Given the description of an element on the screen output the (x, y) to click on. 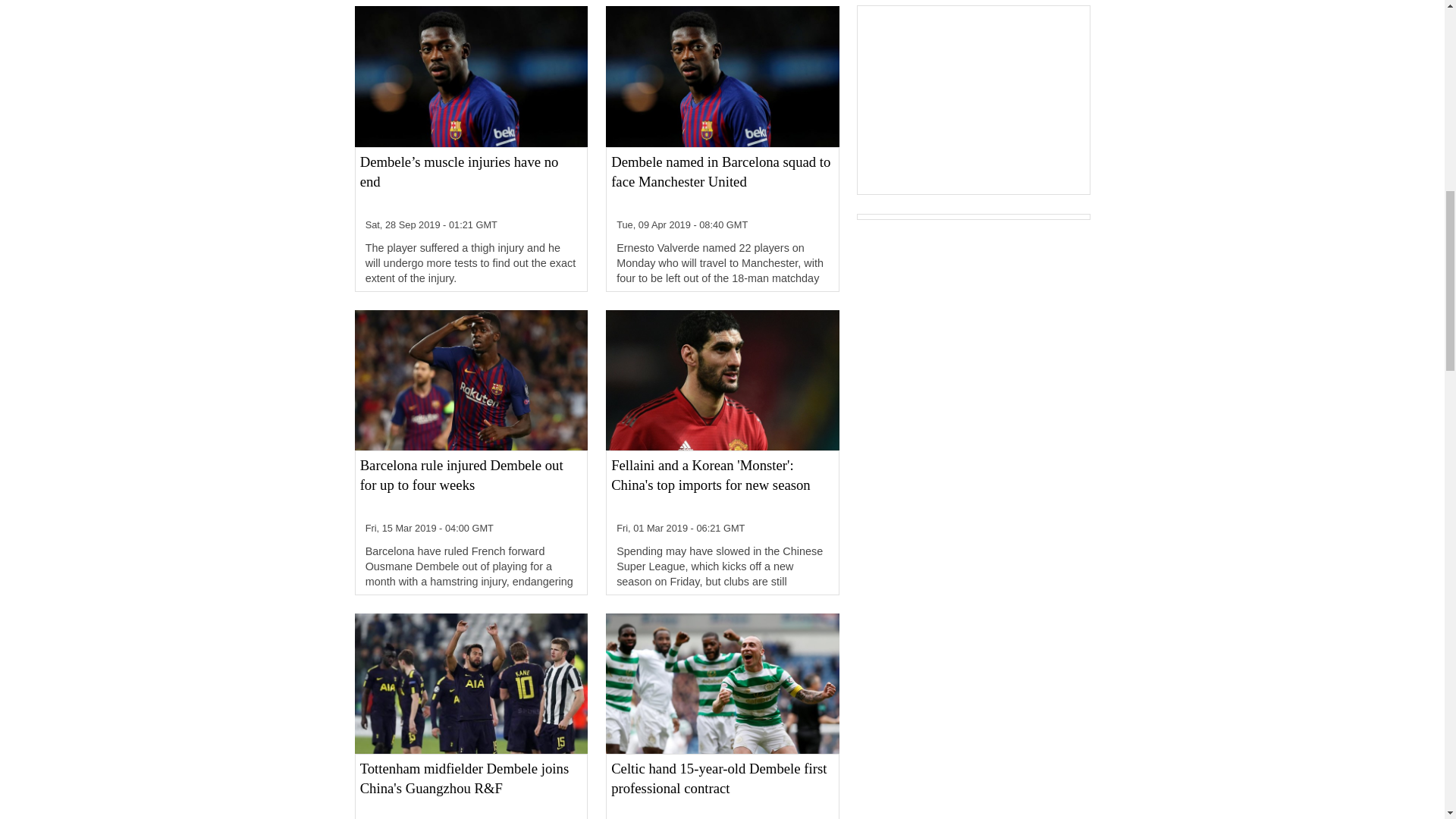
Dembele named in Barcelona squad to face Manchester United (721, 182)
Barcelona rule injured Dembele out for up to four weeks (470, 485)
